Given the description of an element on the screen output the (x, y) to click on. 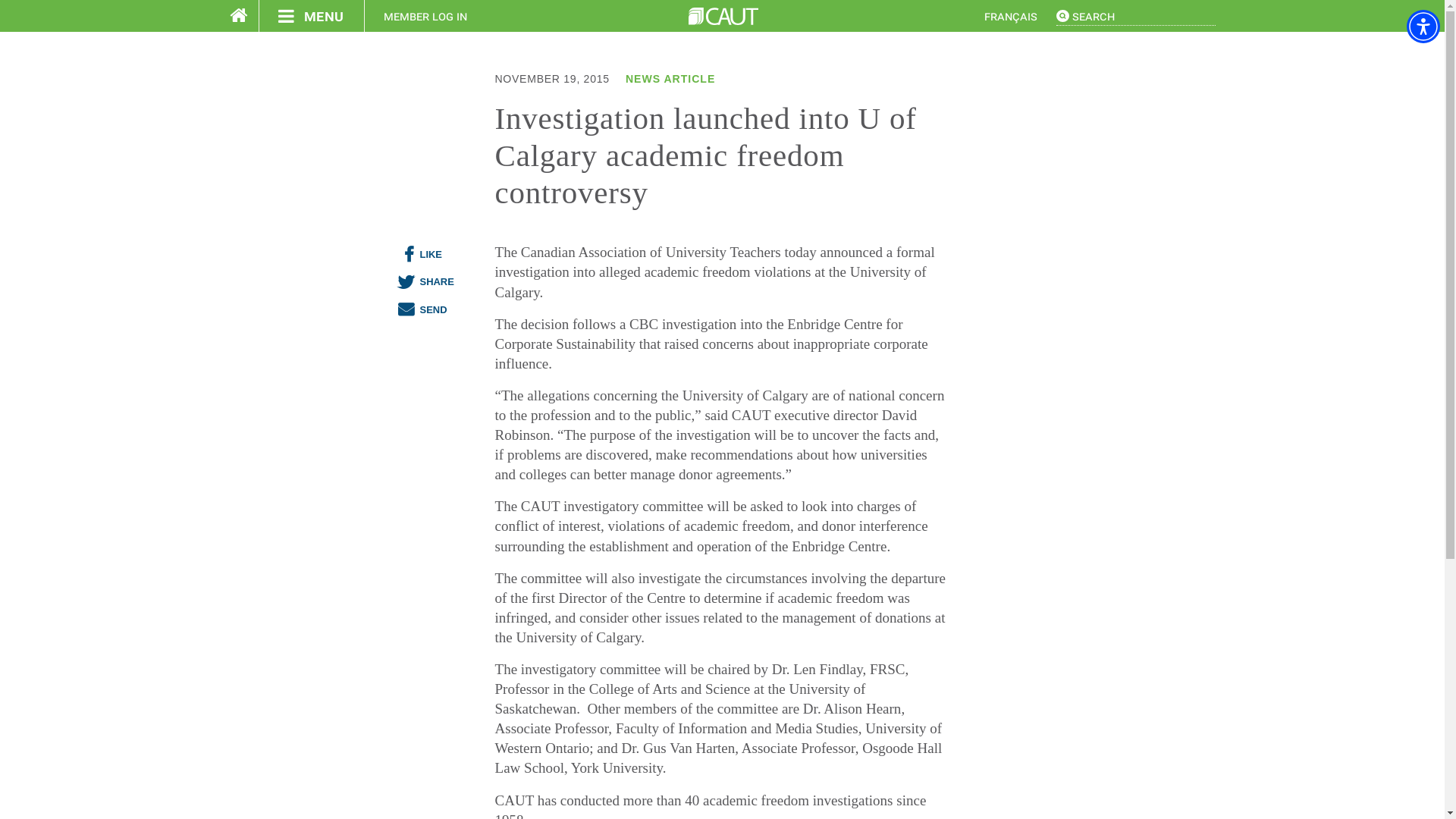
Home (723, 15)
Accessibility Menu (1422, 26)
menu (310, 15)
member log in (425, 15)
